Given the description of an element on the screen output the (x, y) to click on. 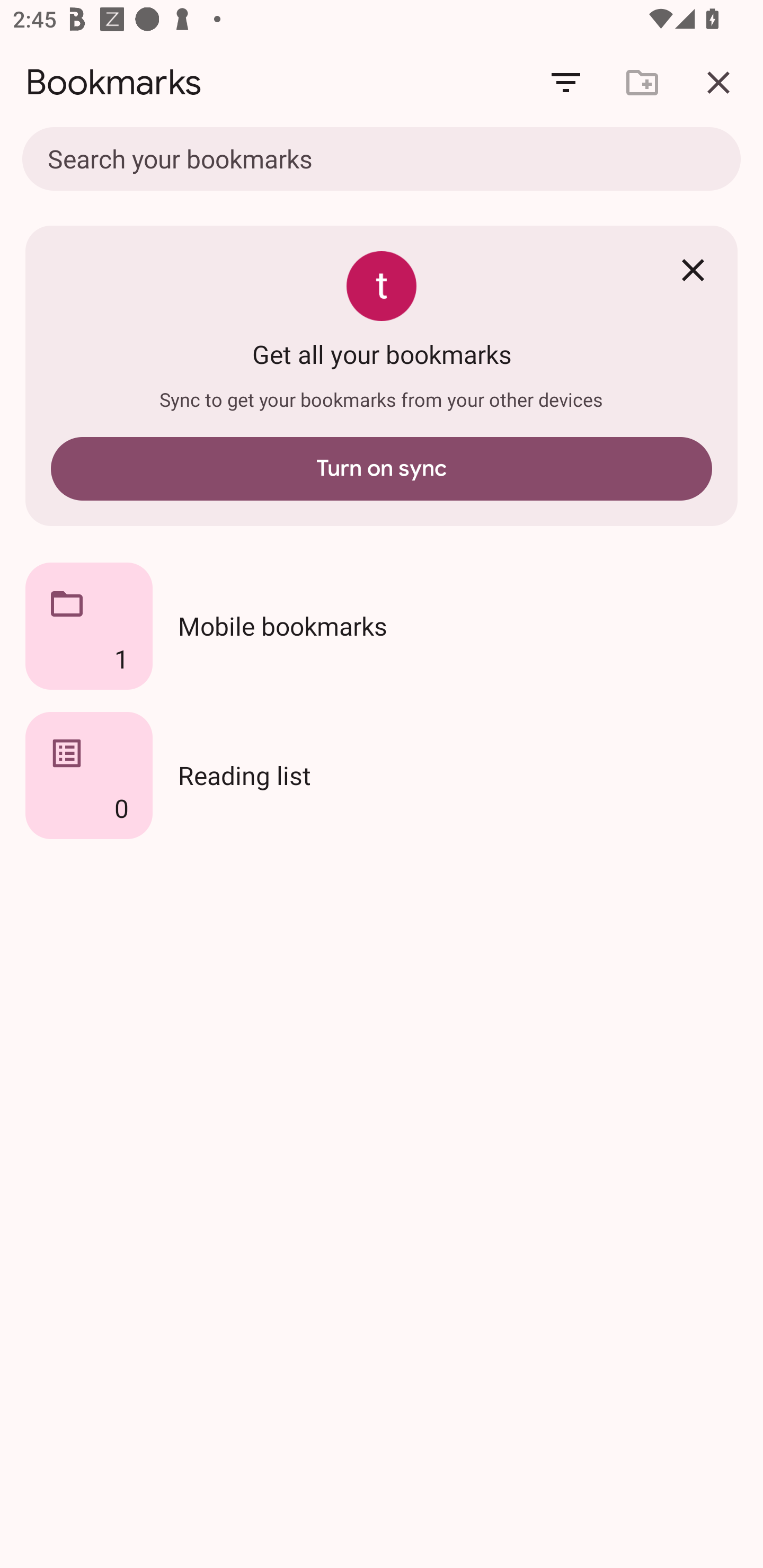
Sort and view options (565, 81)
Create new folder (642, 81)
Close dialog (718, 81)
Search your bookmarks (381, 160)
Close (692, 270)
Turn on sync (381, 468)
Mobile bookmarks 1 bookmark 1 Mobile bookmarks (381, 625)
Reading list No unread pages 0 Reading list (381, 774)
